Given the description of an element on the screen output the (x, y) to click on. 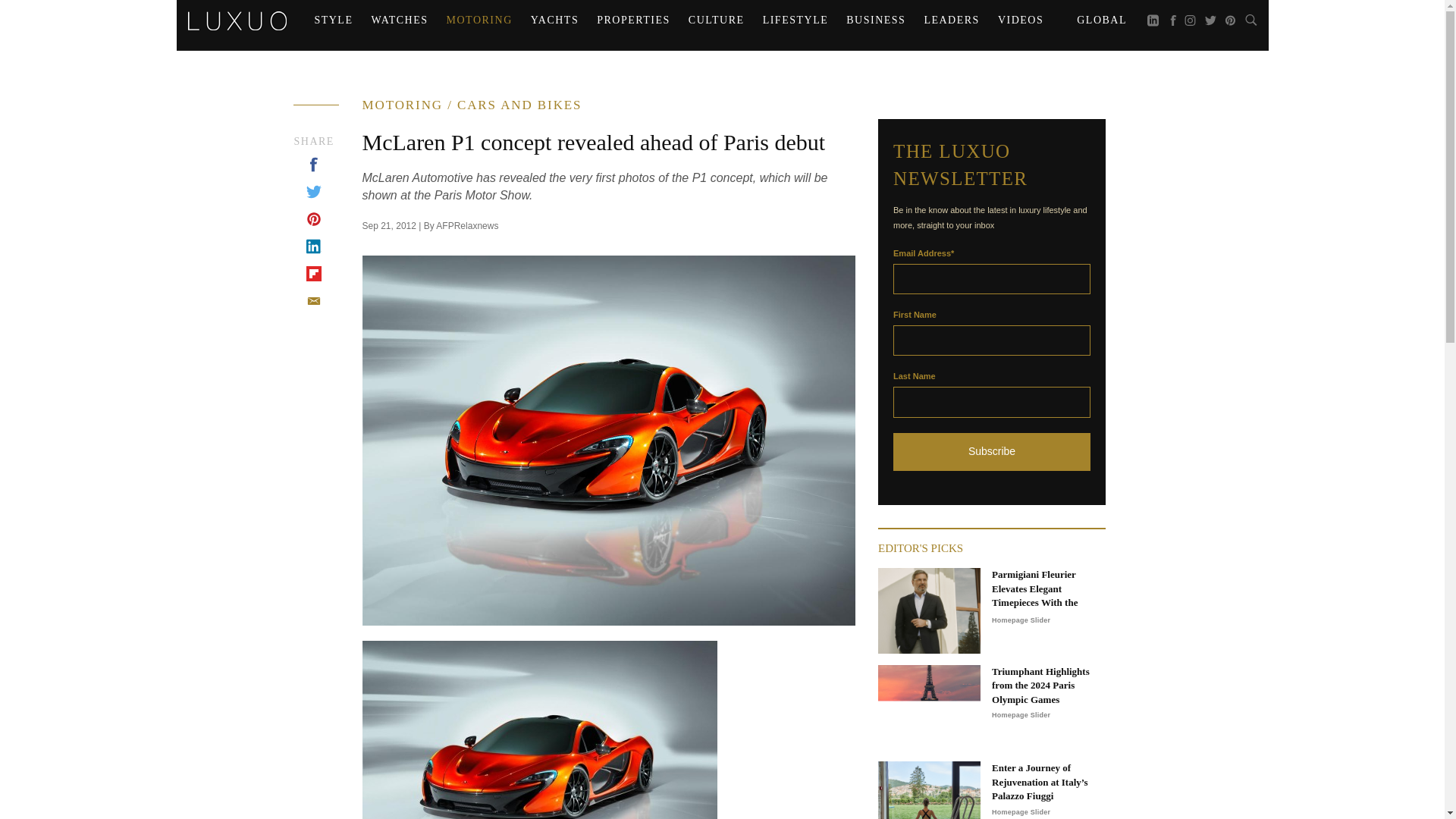
YACHTS (554, 20)
Subscribe (991, 451)
LUXUO - The Luxury Lifestyle Portal (236, 18)
LUXUO - The Luxury Lifestyle Portal (236, 20)
PROPERTIES (633, 20)
McLaren P1 (539, 729)
WATCHES (398, 20)
MOTORING (479, 20)
STYLE (332, 20)
